Given the description of an element on the screen output the (x, y) to click on. 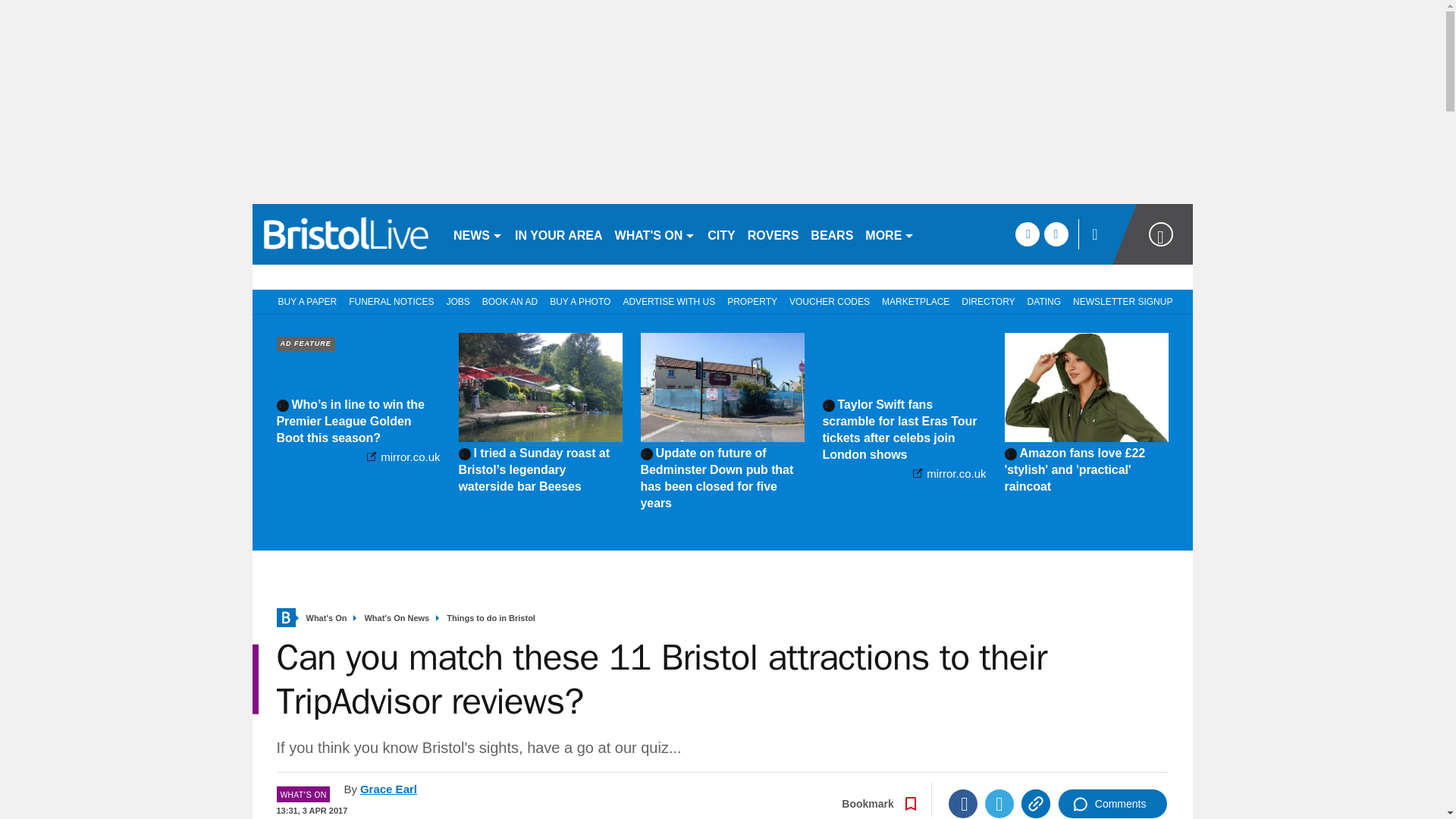
BEARS (832, 233)
MORE (889, 233)
WHAT'S ON (654, 233)
Twitter (999, 803)
facebook (1026, 233)
Comments (1112, 803)
bristolpost (345, 233)
ROVERS (773, 233)
IN YOUR AREA (558, 233)
Facebook (962, 803)
